Given the description of an element on the screen output the (x, y) to click on. 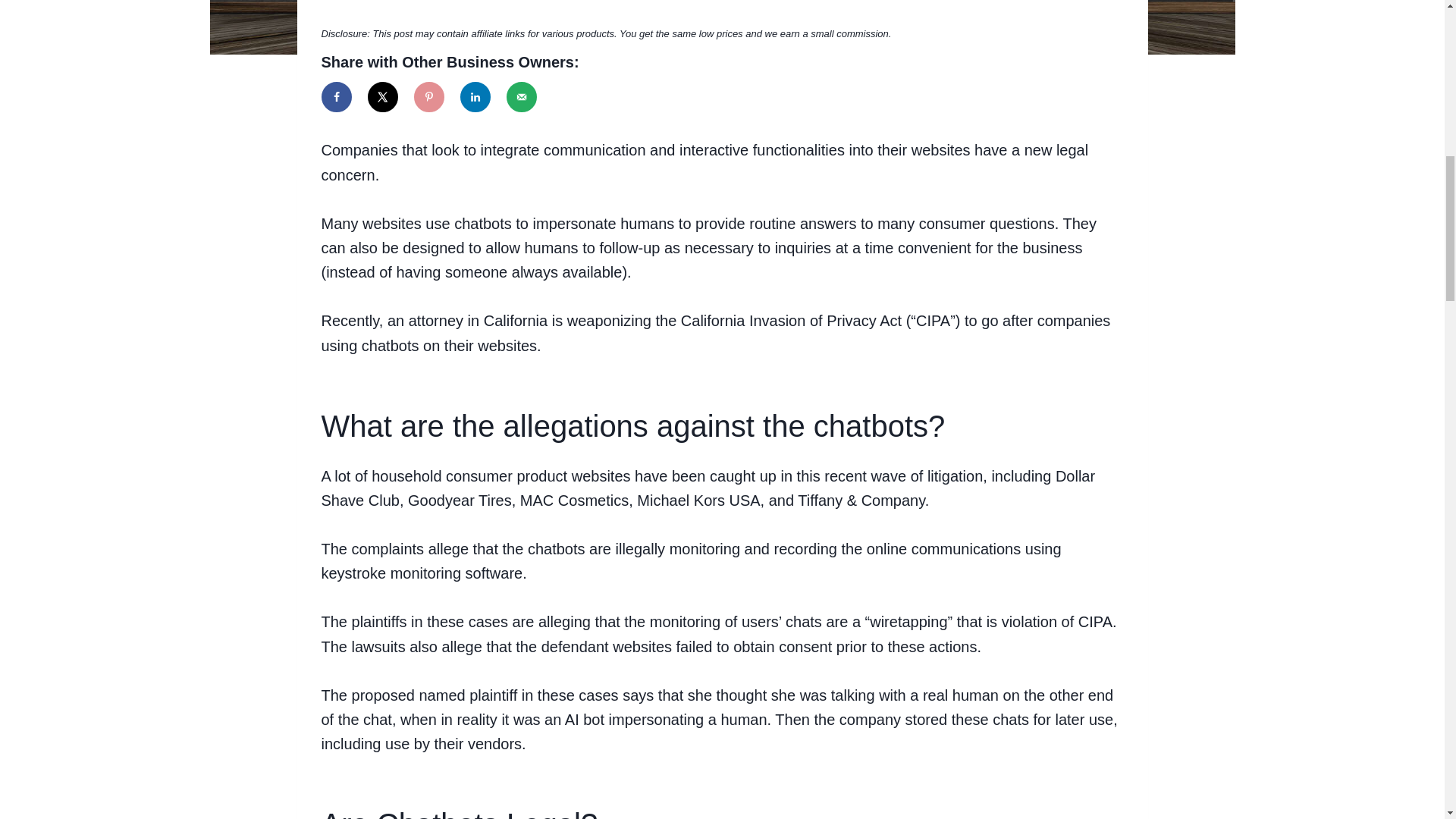
Share on Facebook (336, 96)
Share on LinkedIn (475, 96)
Save to Pinterest (428, 96)
Share on X (382, 96)
Send over email (521, 96)
